Given the description of an element on the screen output the (x, y) to click on. 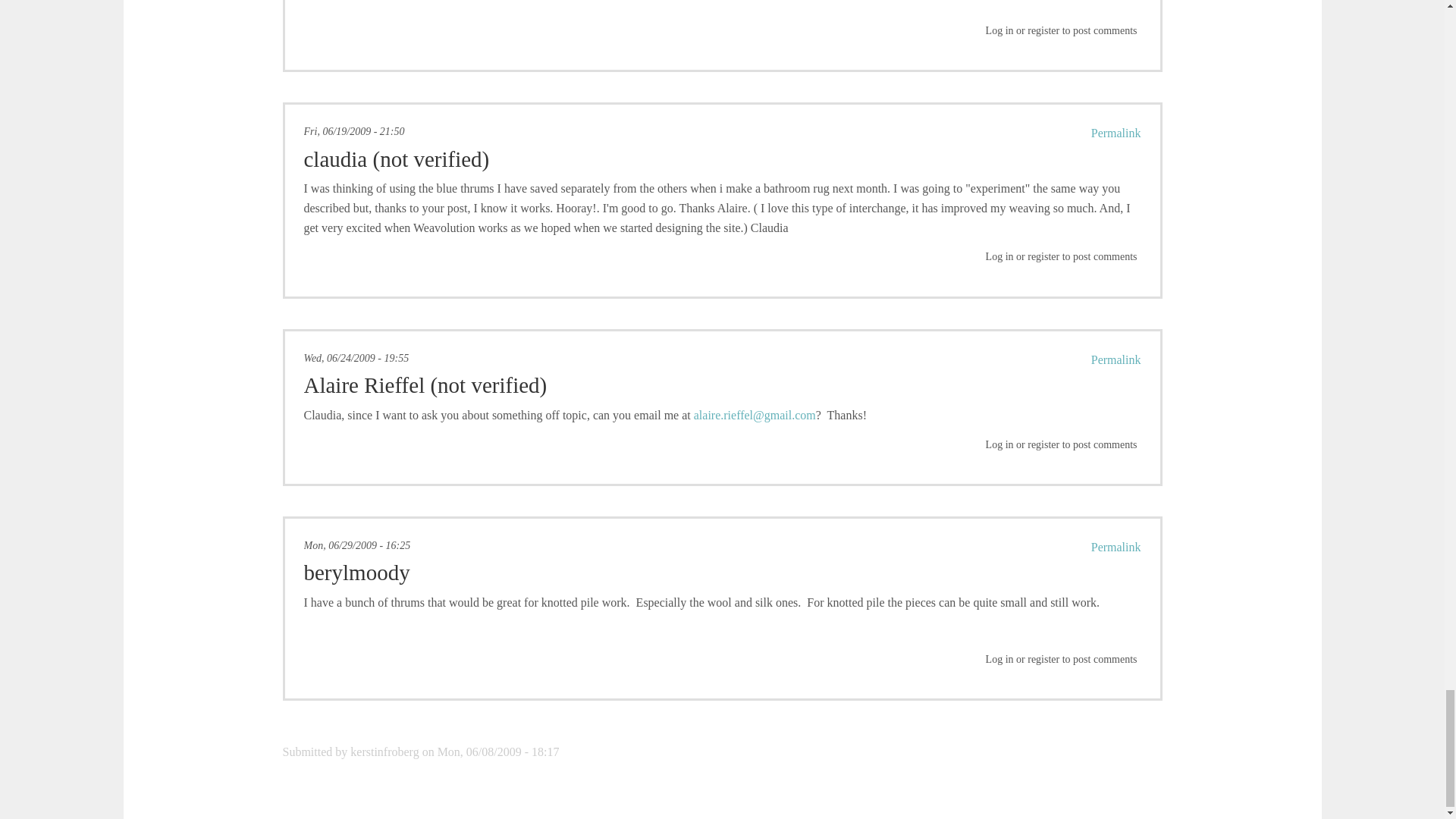
Monday, June 8, 2009 - 18:17 (498, 751)
